Given the description of an element on the screen output the (x, y) to click on. 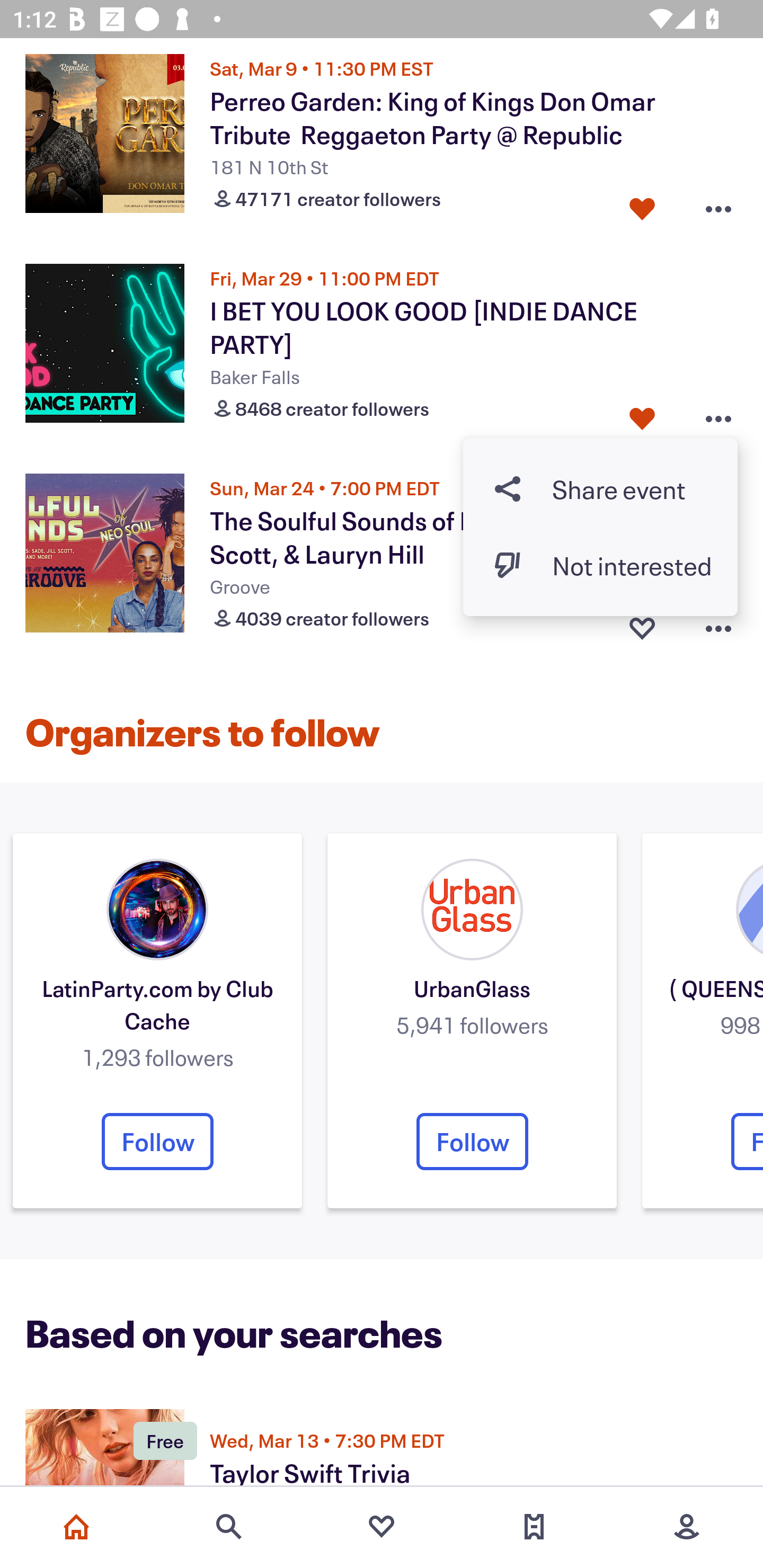
Share button Share event (600, 488)
Dislike event button Not interested (600, 564)
